Given the description of an element on the screen output the (x, y) to click on. 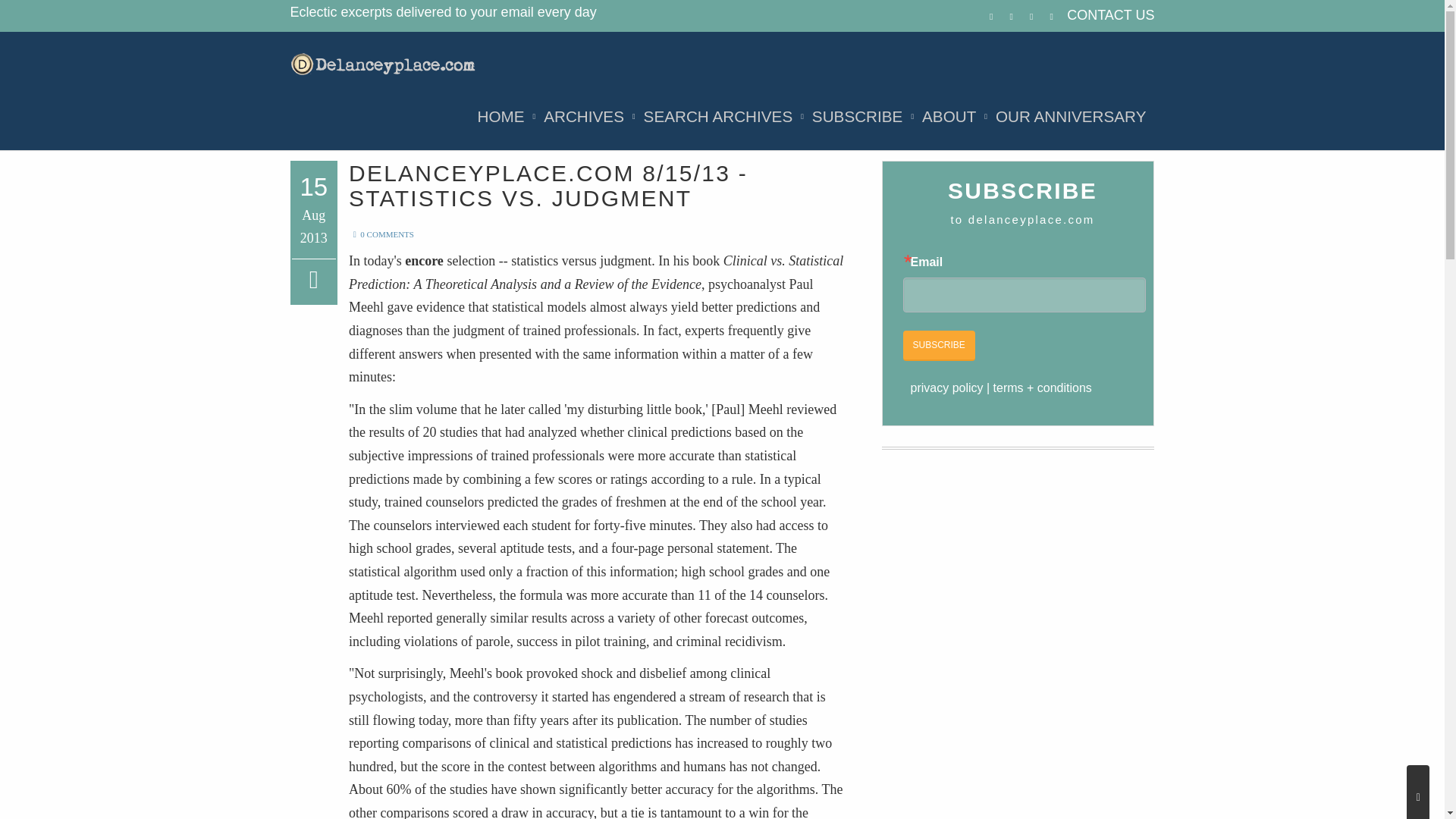
CONTACT US (1110, 14)
ABOUT (949, 116)
SUBSCRIBE (857, 116)
0 COMMENTS (381, 234)
ARCHIVES (583, 116)
HOME (500, 116)
SEARCH ARCHIVES (718, 116)
OUR ANNIVERSARY (1070, 116)
